Given the description of an element on the screen output the (x, y) to click on. 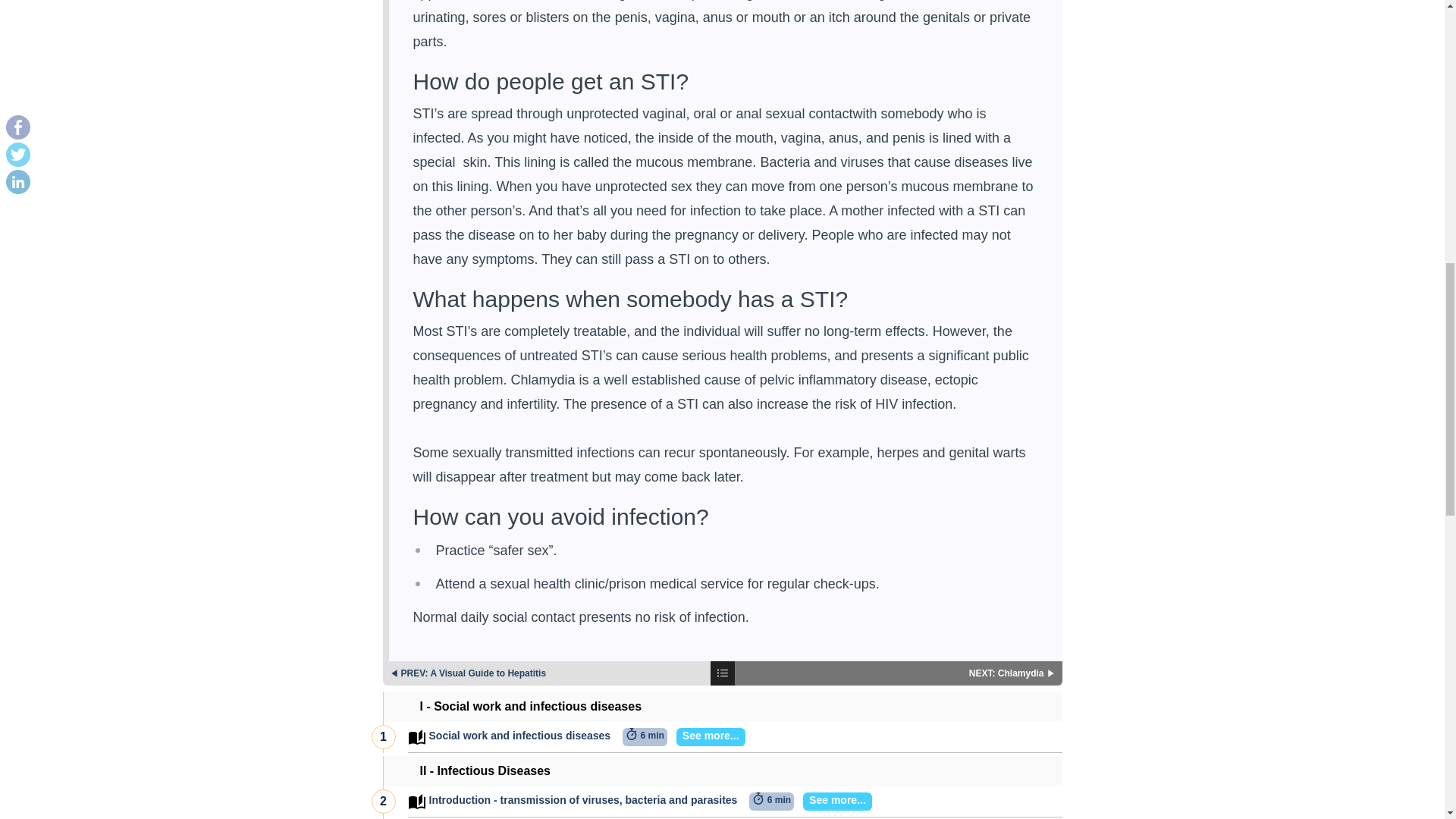
See more... (705, 737)
PREV: A Visual Guide to Hepatitis (545, 673)
See more... (832, 801)
NEXT: Chlamydia (897, 673)
Social work and infectious diseases (520, 737)
